Given the description of an element on the screen output the (x, y) to click on. 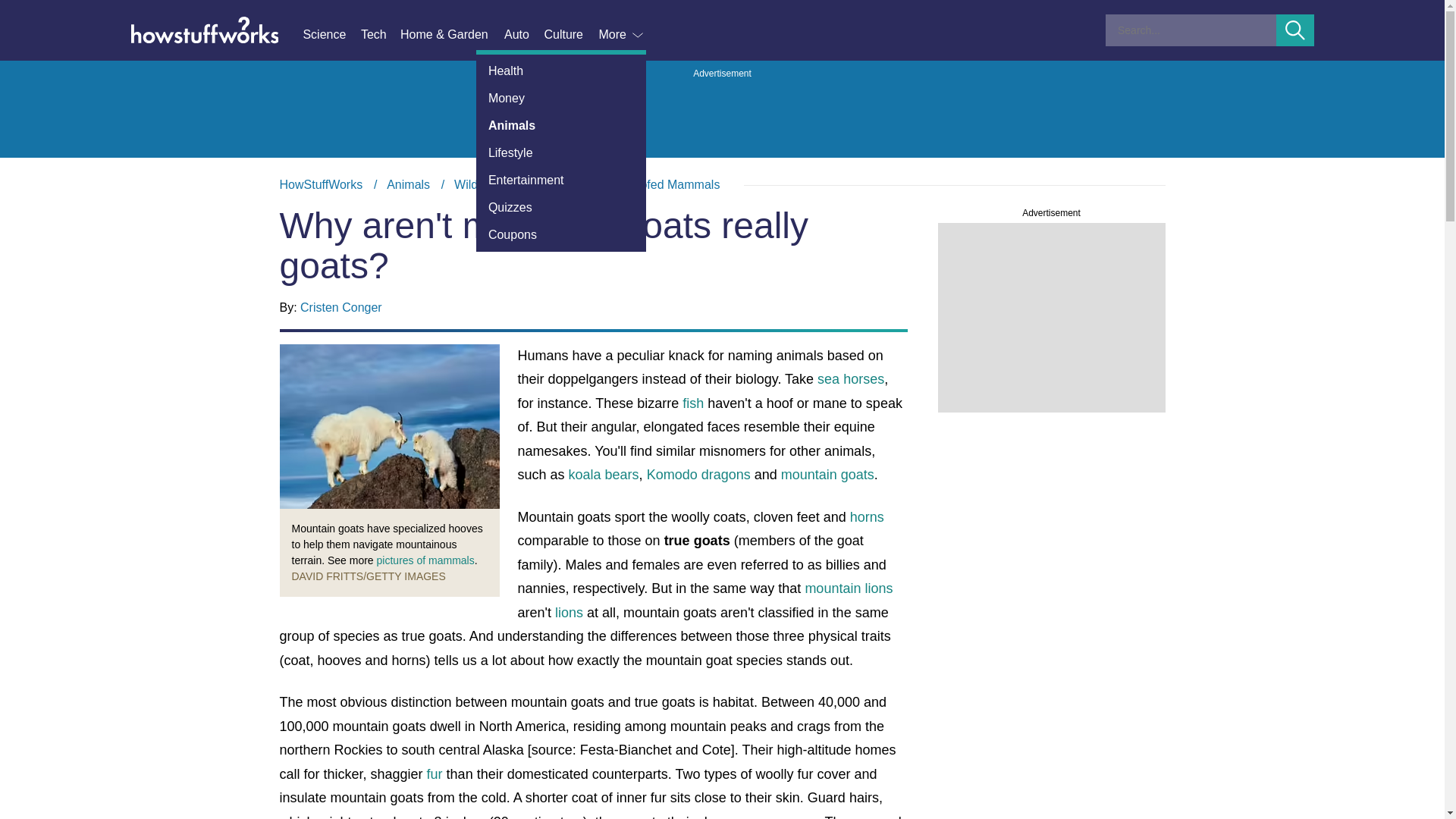
Coupons (561, 234)
Animals (408, 184)
Animals (561, 125)
HowStuffWorks (320, 184)
Mammals (573, 184)
Culture (570, 34)
Submit Search (1295, 29)
Science (330, 34)
Hoofed Mammals (671, 184)
Auto (523, 34)
